Given the description of an element on the screen output the (x, y) to click on. 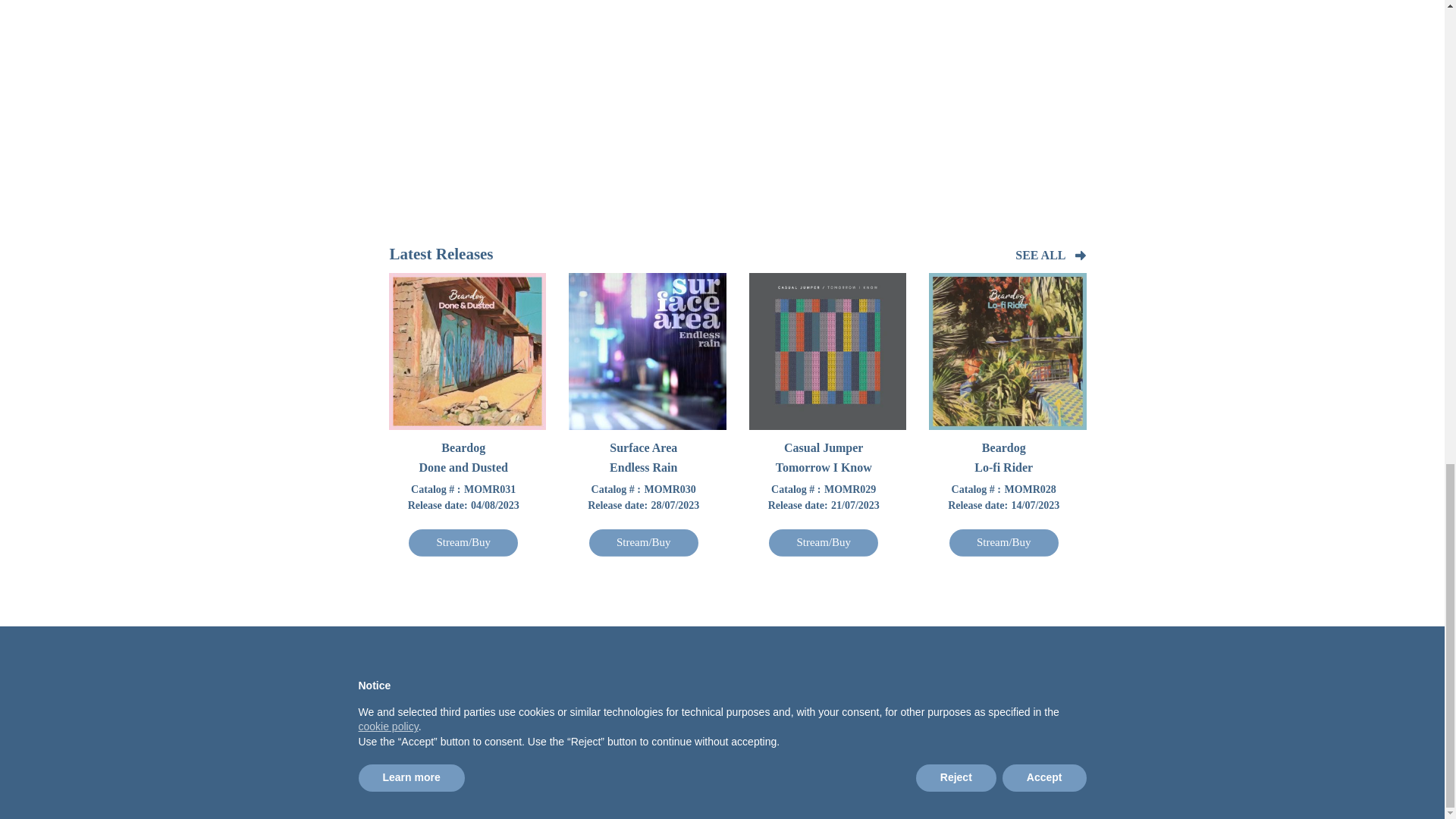
Privacy Policy (344, 711)
Sounds of iO - Mdoj (859, 84)
Contact Us (551, 711)
About Us (548, 729)
Cookie Policy (344, 694)
Submit Music (557, 694)
